Given the description of an element on the screen output the (x, y) to click on. 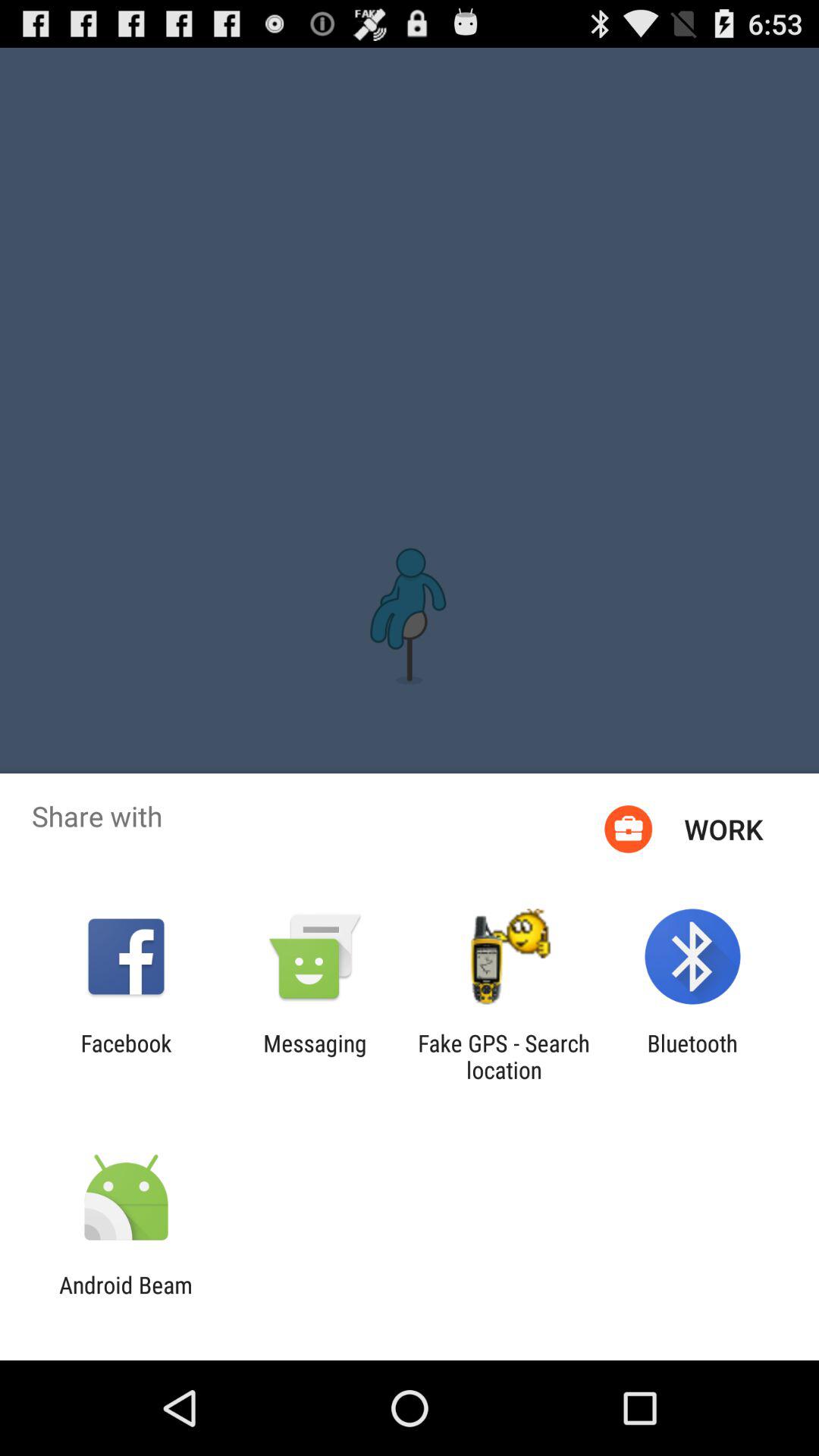
tap item to the left of messaging (125, 1056)
